Given the description of an element on the screen output the (x, y) to click on. 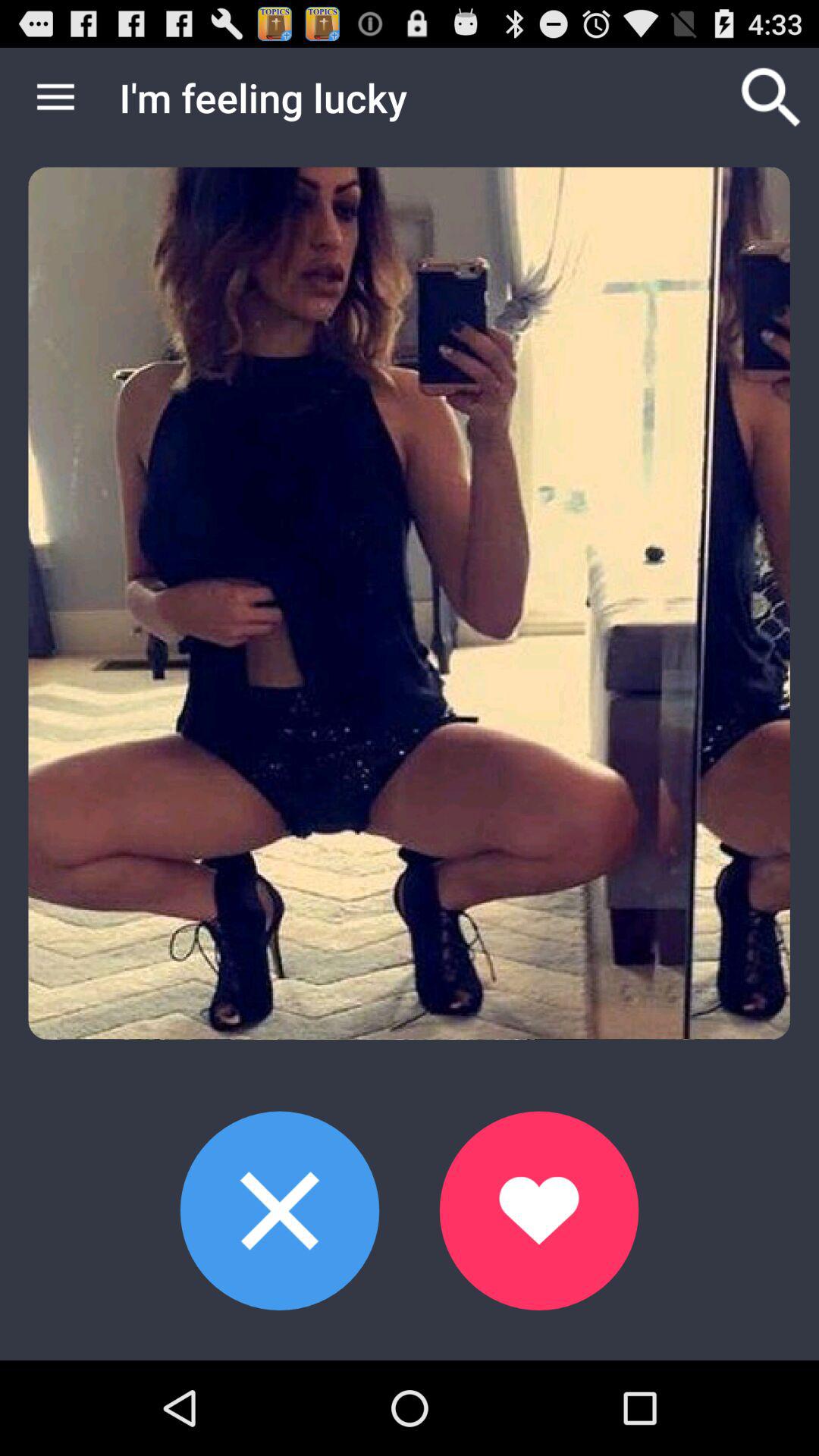
select cancel option (279, 1210)
